Given the description of an element on the screen output the (x, y) to click on. 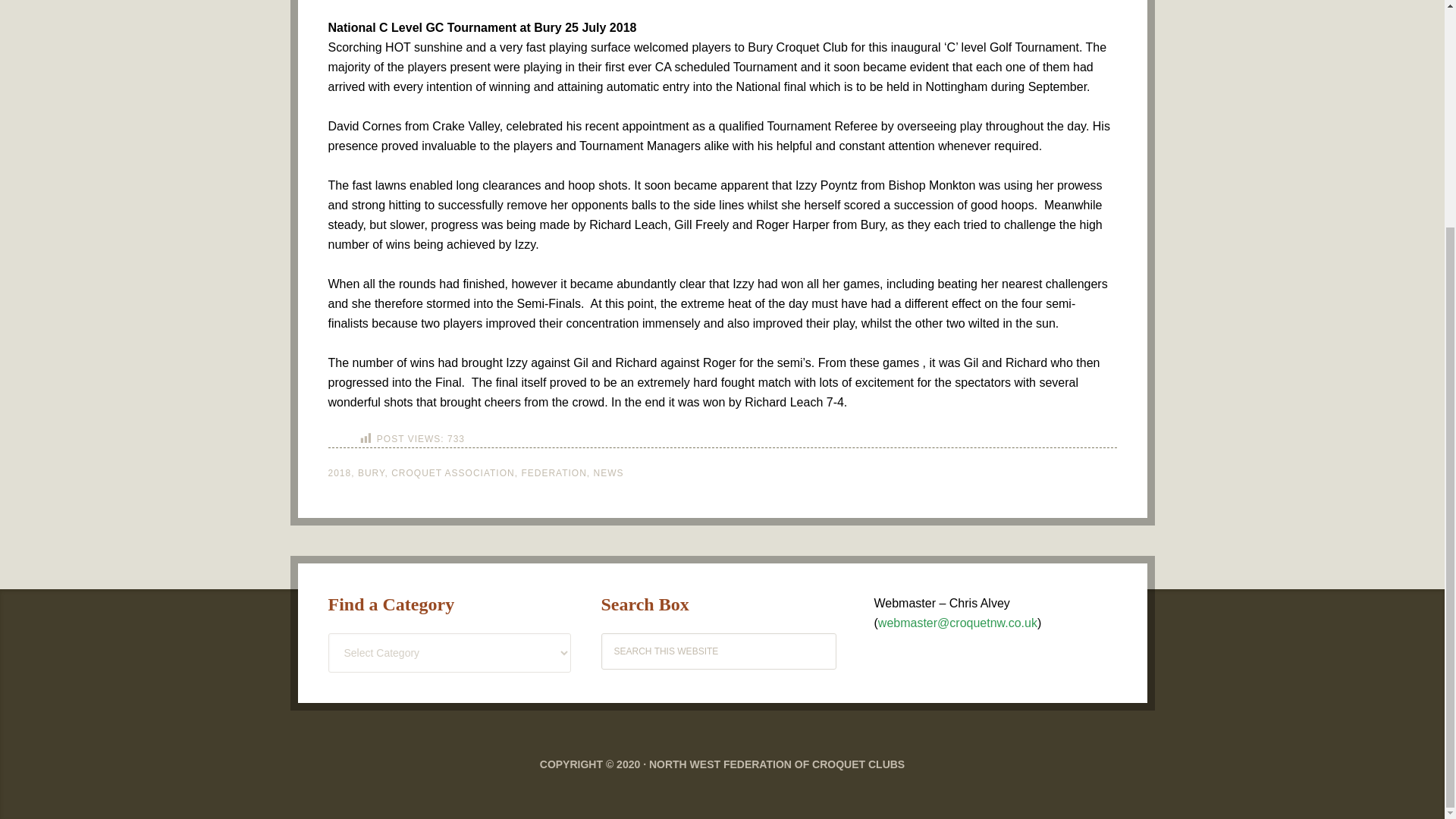
2018 (338, 472)
NEWS (607, 472)
CROQUET ASSOCIATION (453, 472)
FEDERATION (553, 472)
BURY (371, 472)
NORTH WEST FEDERATION OF CROQUET CLUBS (776, 764)
